Given the description of an element on the screen output the (x, y) to click on. 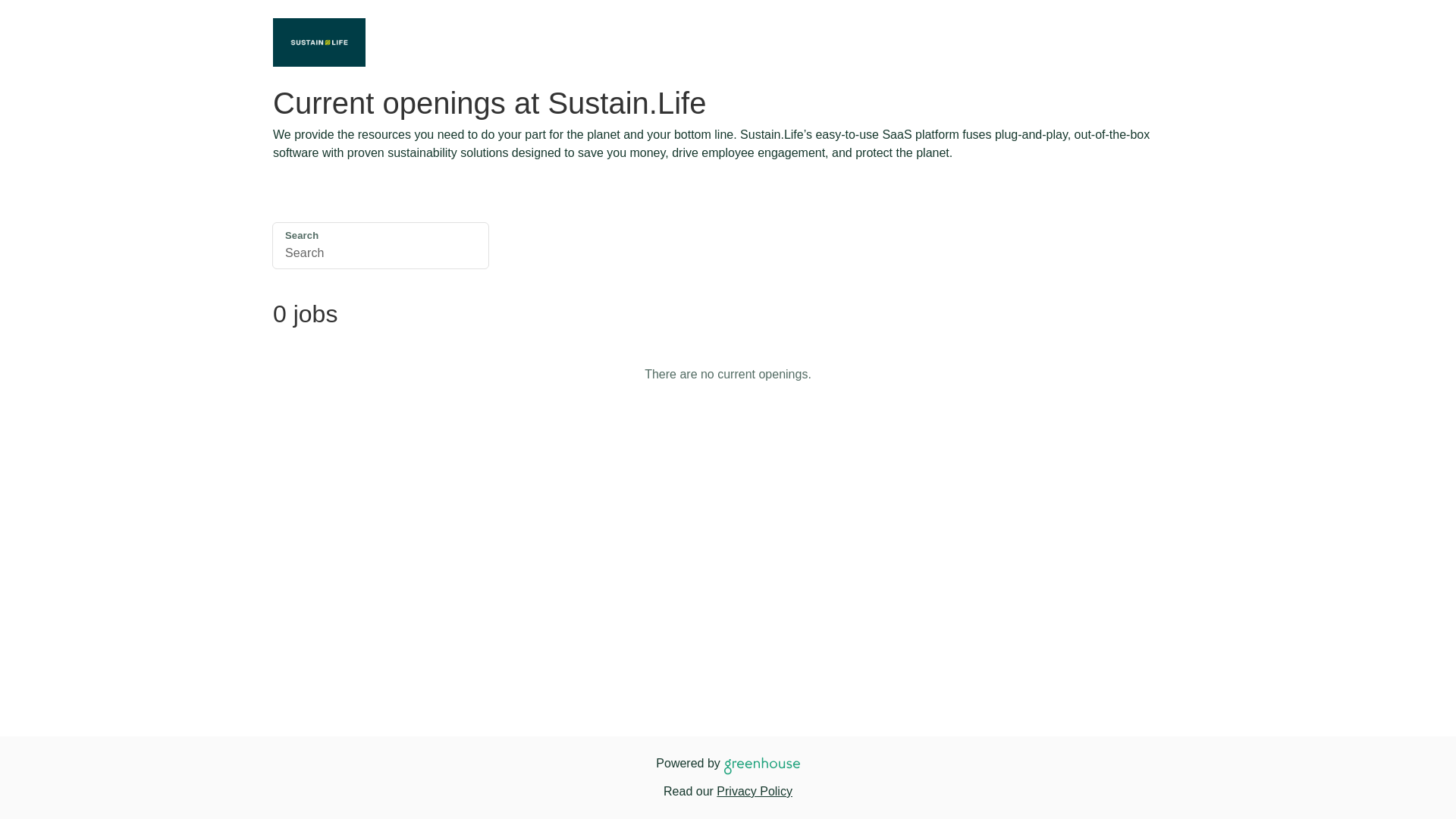
Privacy Policy (754, 790)
